Given the description of an element on the screen output the (x, y) to click on. 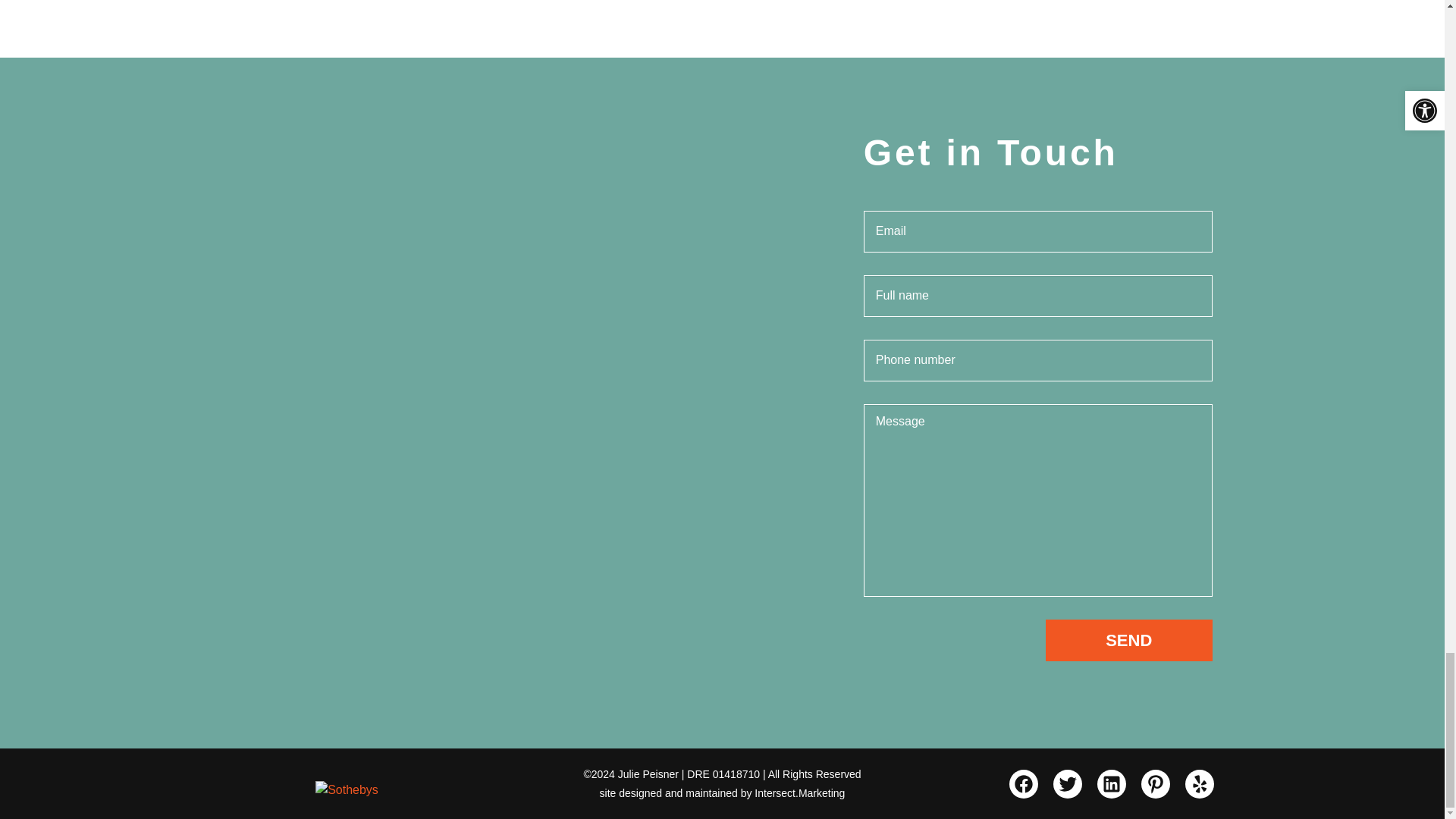
linkedin (1110, 783)
facebook (1022, 783)
Intersect.Marketing (799, 792)
yelp (1198, 783)
SEND (1128, 639)
twitter (1066, 783)
pinterest (1154, 783)
